Given the description of an element on the screen output the (x, y) to click on. 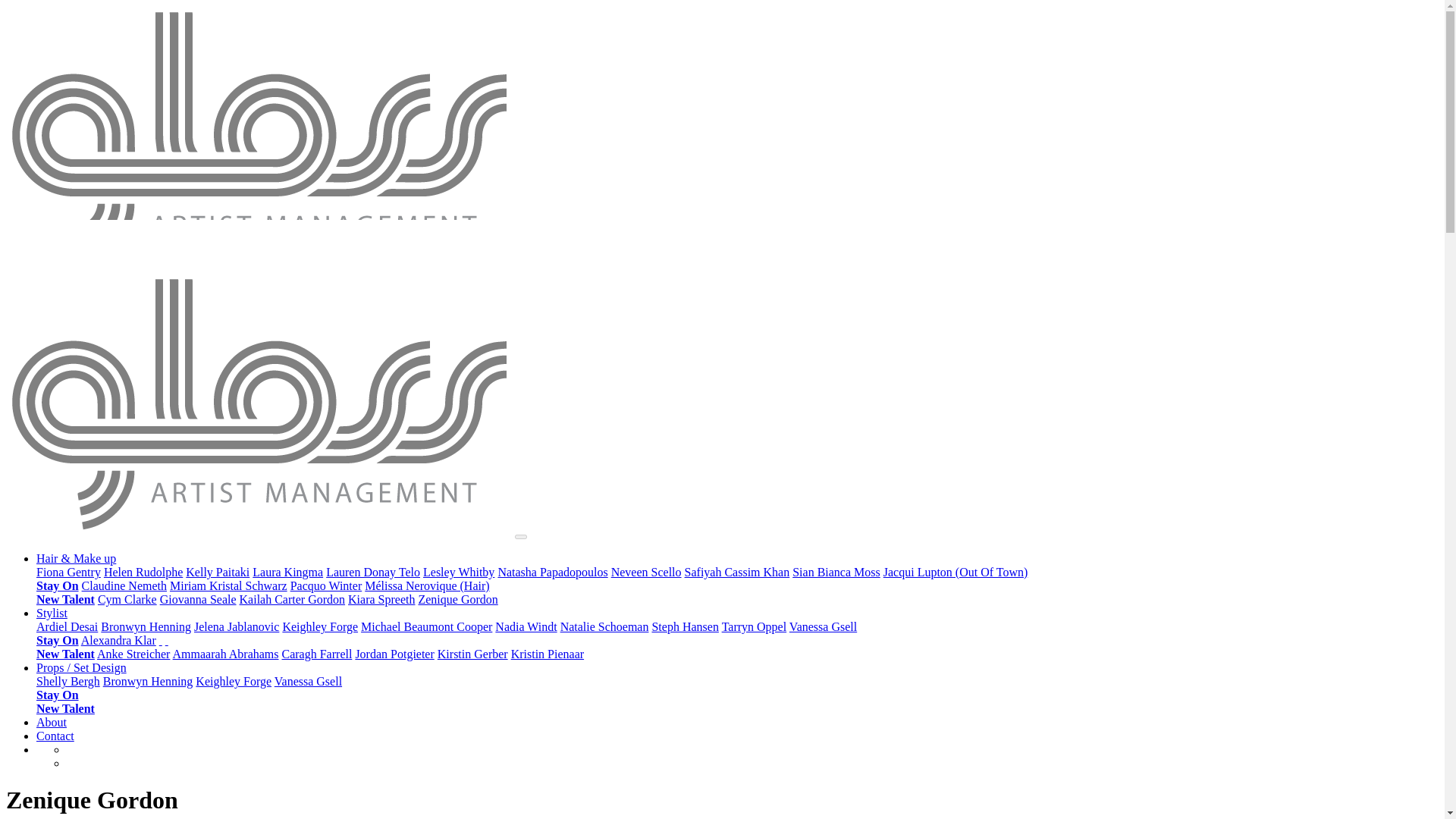
Stay On (57, 585)
Sian Bianca Moss (836, 571)
Natasha Papadopoulos (552, 571)
Steph Hansen (683, 626)
Laura Kingma (287, 571)
New Talent (65, 599)
Stylist (51, 612)
Zenique Gordon (457, 599)
Safiyah Cassim Khan (737, 571)
Fiona Gentry (68, 571)
Kelly Paitaki (217, 571)
Cym Clarke (127, 599)
Helen Rudolphe (143, 571)
Giovanna Seale (197, 599)
Pacquo Winter (325, 585)
